Given the description of an element on the screen output the (x, y) to click on. 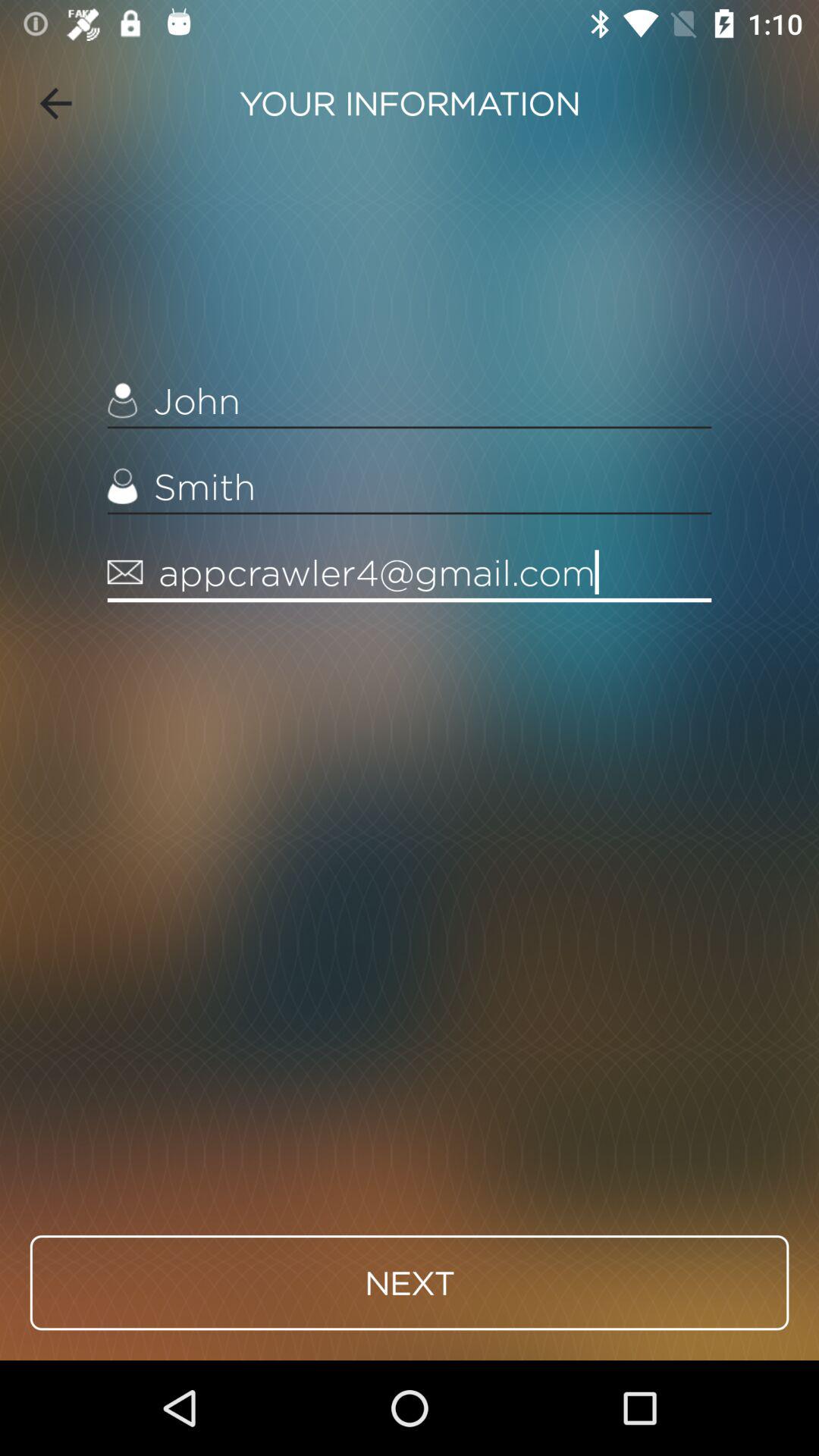
open john (409, 401)
